Given the description of an element on the screen output the (x, y) to click on. 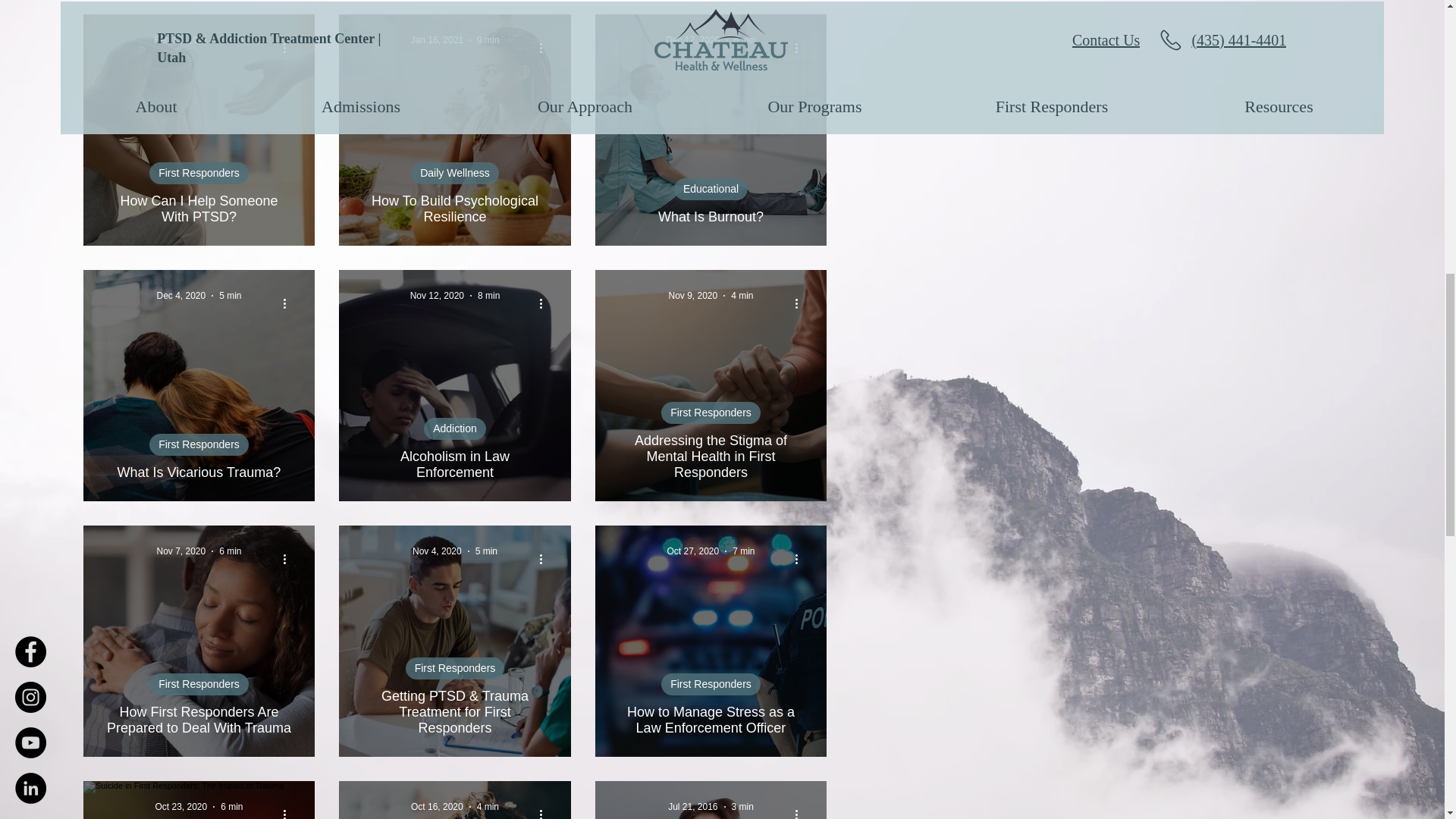
Jan 16, 2021 (436, 40)
Feb 12, 2021 (181, 40)
9 min (488, 40)
Dec 12, 2020 (692, 40)
Dec 4, 2020 (180, 295)
6 min (744, 40)
6 min (232, 40)
